Given the description of an element on the screen output the (x, y) to click on. 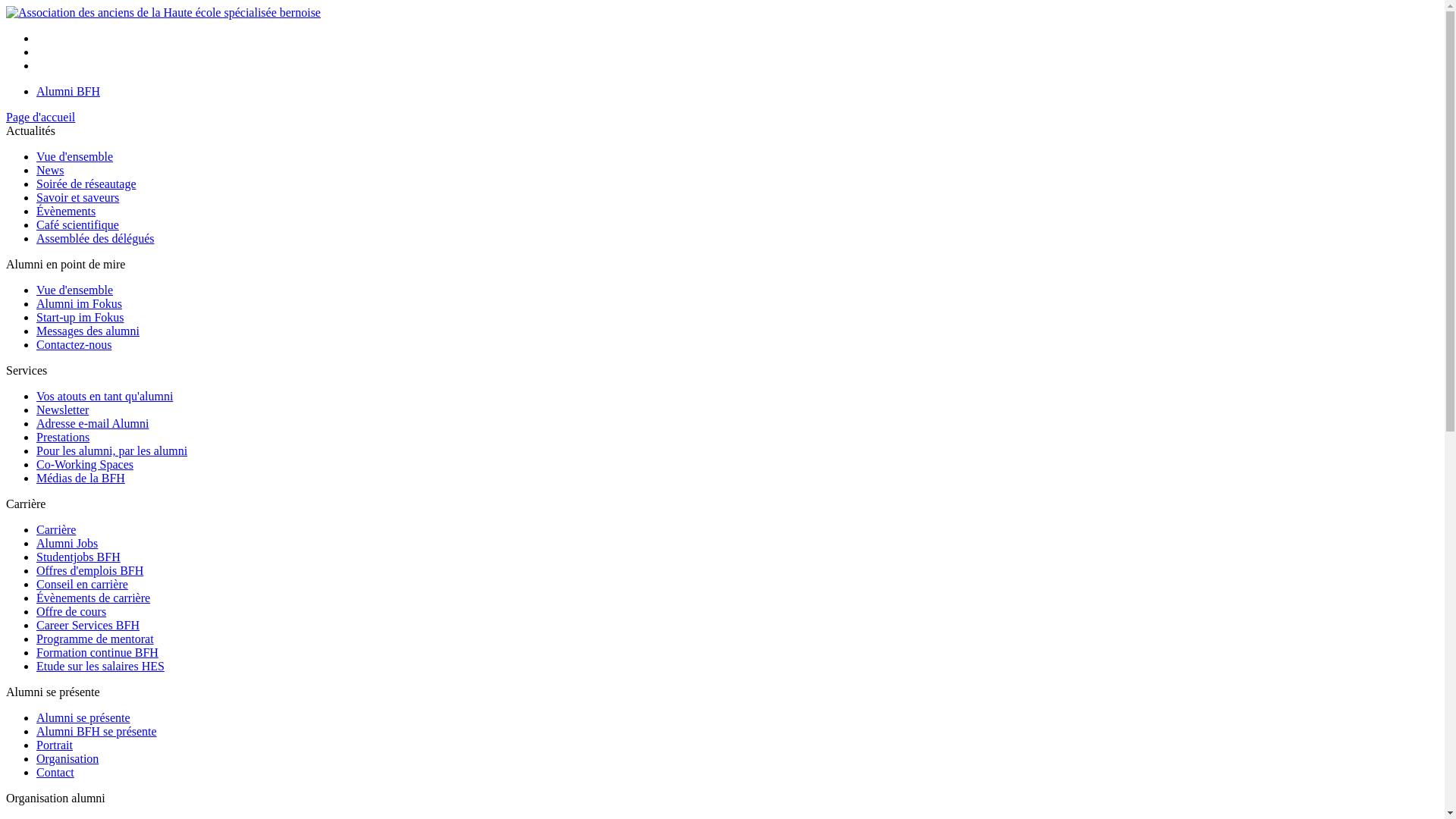
Prestations Element type: text (62, 436)
News Element type: text (49, 169)
Etude sur les salaires HES Element type: text (100, 665)
Portrait Element type: text (54, 744)
Newsletter Element type: text (62, 409)
Pour les alumni, par les alumni Element type: text (111, 450)
Offre de cours Element type: text (71, 611)
Vue d'ensemble Element type: text (74, 289)
Co-Working Spaces Element type: text (84, 464)
Contactez-nous Element type: text (74, 344)
Offres d'emplois BFH Element type: text (89, 570)
Savoir et saveurs Element type: text (77, 197)
Career Services BFH Element type: text (87, 624)
Contact Element type: text (55, 771)
Studentjobs BFH Element type: text (78, 556)
Alumni im Fokus Element type: text (79, 303)
Organisation Element type: text (67, 758)
Vue d'ensemble Element type: text (74, 156)
Messages des alumni Element type: text (87, 330)
Adresse e-mail Alumni Element type: text (92, 423)
Vos atouts en tant qu'alumni Element type: text (104, 395)
Page d'accueil Element type: text (40, 116)
Programme de mentorat Element type: text (94, 638)
Formation continue BFH Element type: text (97, 652)
Start-up im Fokus Element type: text (80, 316)
Alumni BFH Element type: text (68, 90)
Alumni Jobs Element type: text (66, 542)
